Given the description of an element on the screen output the (x, y) to click on. 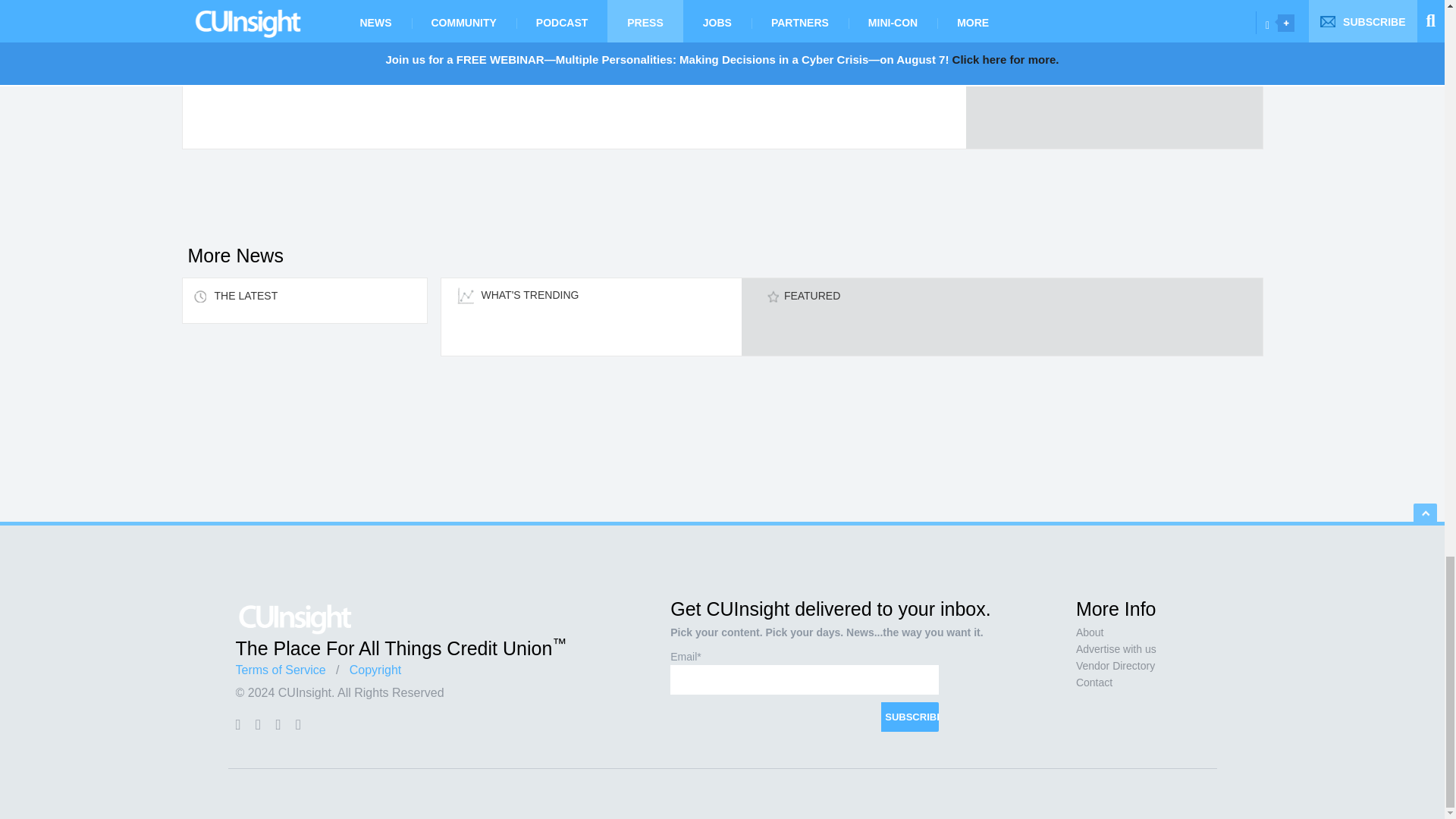
Subscribe (909, 716)
